Given the description of an element on the screen output the (x, y) to click on. 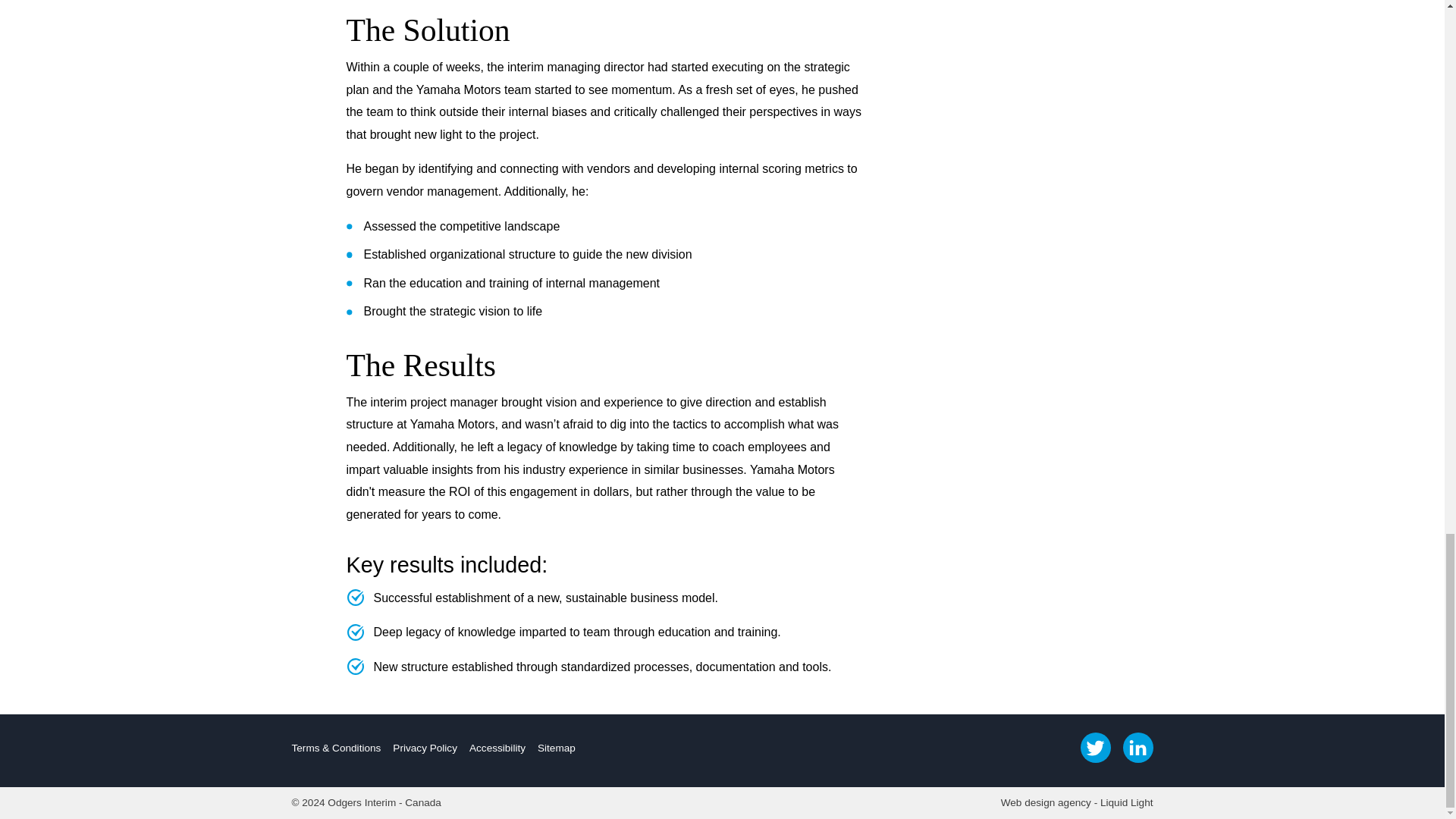
Accessibility (496, 747)
Sitemap (556, 747)
Web design agency (1045, 802)
Privacy Policy (425, 747)
